Given the description of an element on the screen output the (x, y) to click on. 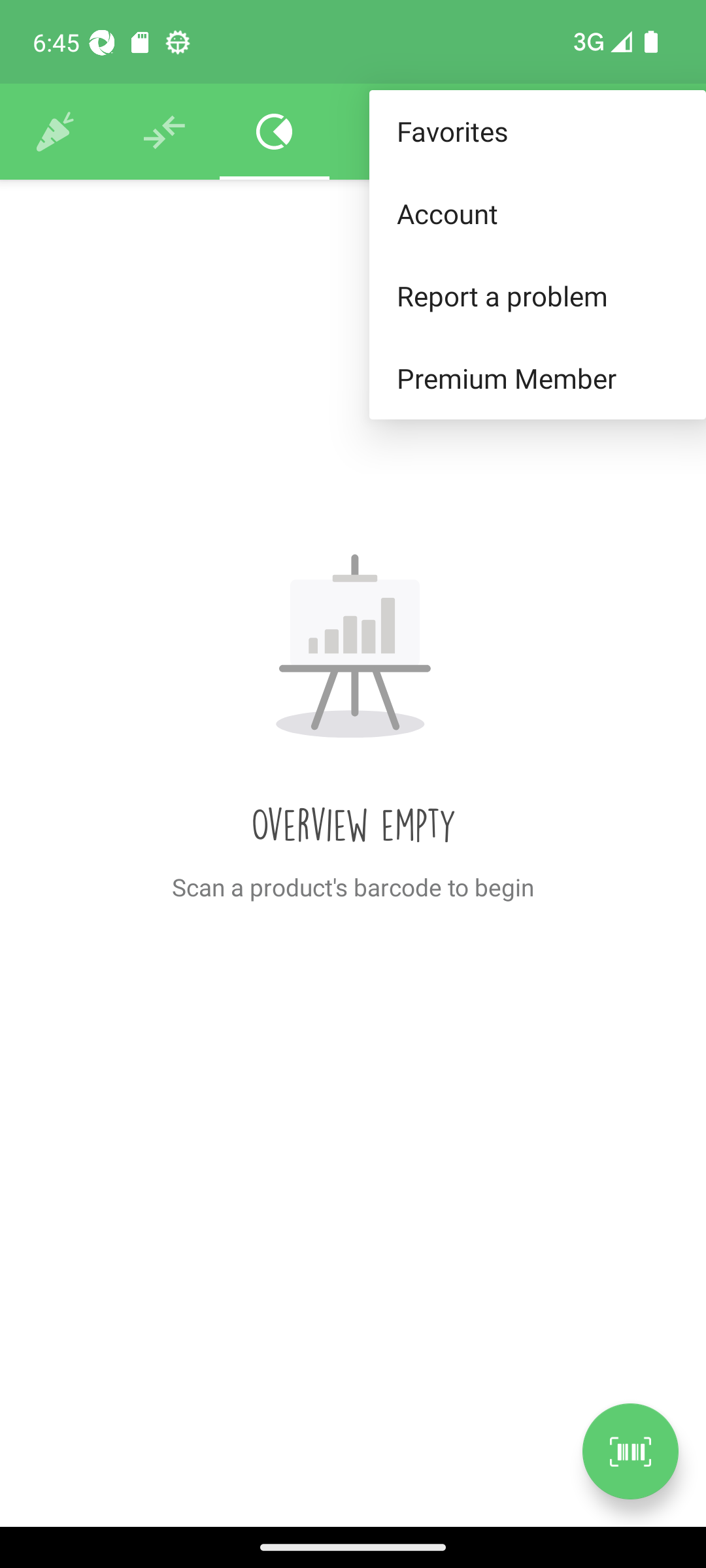
Favorites (537, 131)
Account (537, 213)
Report a problem (537, 295)
Premium Member (537, 378)
